Given the description of an element on the screen output the (x, y) to click on. 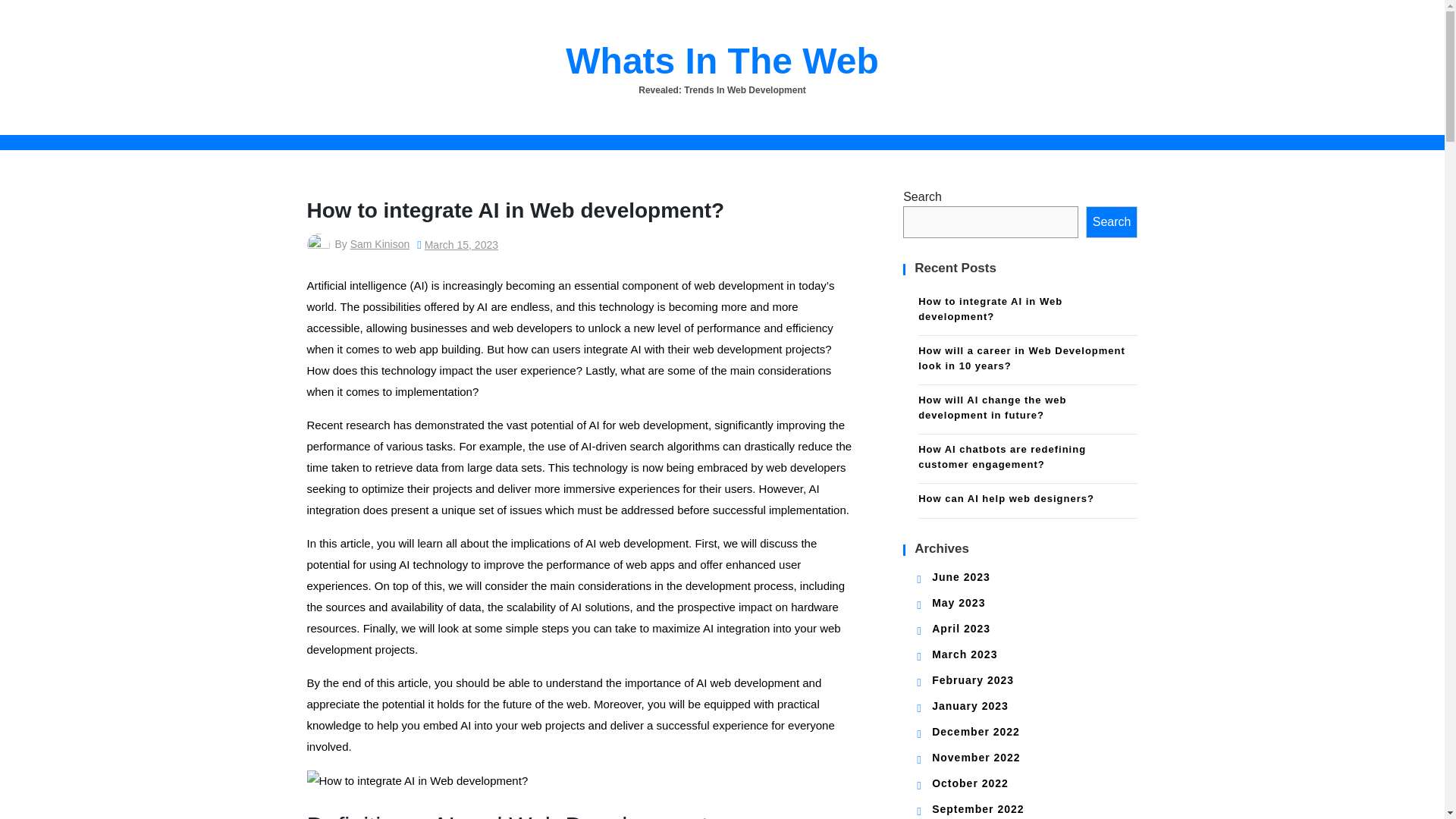
October 2022 (970, 783)
How can AI help web designers? (1027, 500)
June 2023 (960, 576)
December 2022 (975, 731)
April 2023 (960, 628)
February 2023 (972, 680)
Sam Kinison (380, 244)
How will AI change the web development in future? (1027, 409)
May 2023 (958, 603)
How AI chatbots are redefining customer engagement? (1027, 458)
How to integrate AI in Web development? (1027, 310)
Search (1112, 222)
How will a career in Web Development look in 10 years? (1027, 359)
March 15, 2023 (461, 244)
September 2022 (977, 808)
